Given the description of an element on the screen output the (x, y) to click on. 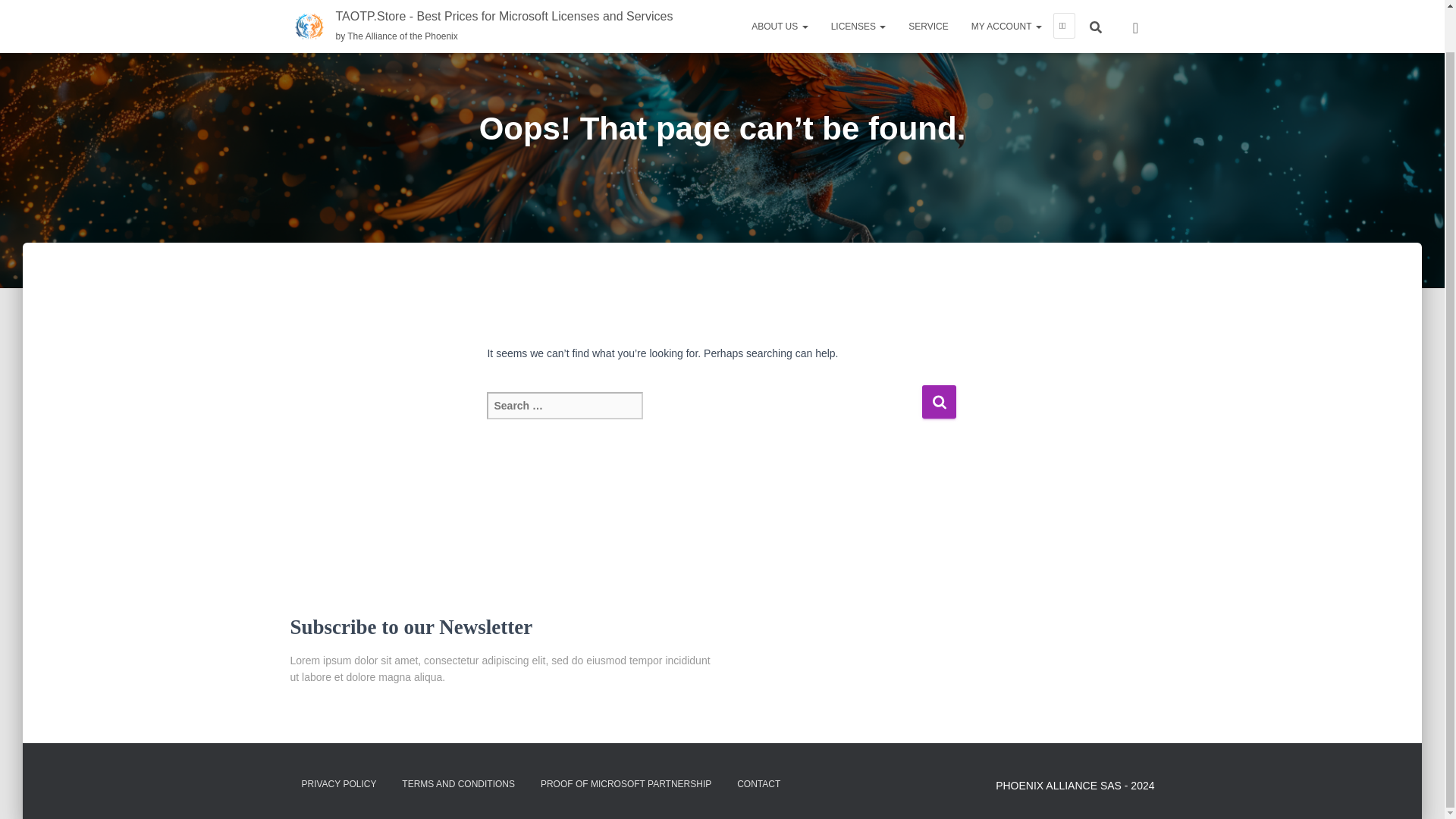
PROOF OF MICROSOFT PARTNERSHIP (625, 784)
SERVICE (927, 0)
TERMS AND CONDITIONS (457, 784)
Service (927, 0)
Search (938, 400)
PRIVACY POLICY (338, 784)
Search (938, 400)
Search (938, 400)
CONTACT (758, 784)
